Given the description of an element on the screen output the (x, y) to click on. 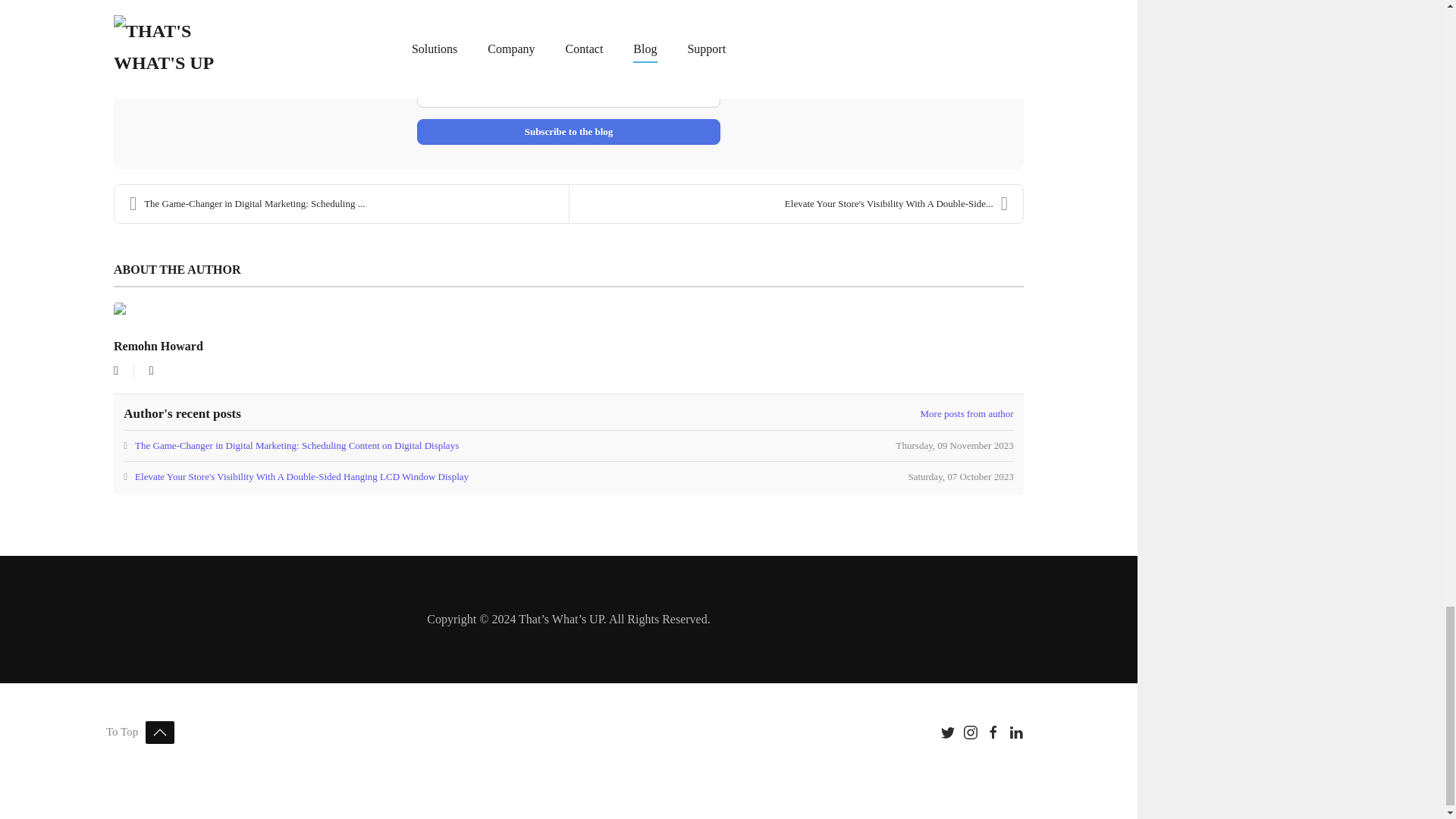
More posts from author (966, 413)
The Game-Changer in Digital Marketing: Scheduling ... (342, 203)
Subscribe to the blog (568, 131)
Remohn Howard (158, 345)
Elevate Your Store's Visibility With A Double-Side... (796, 203)
